Given the description of an element on the screen output the (x, y) to click on. 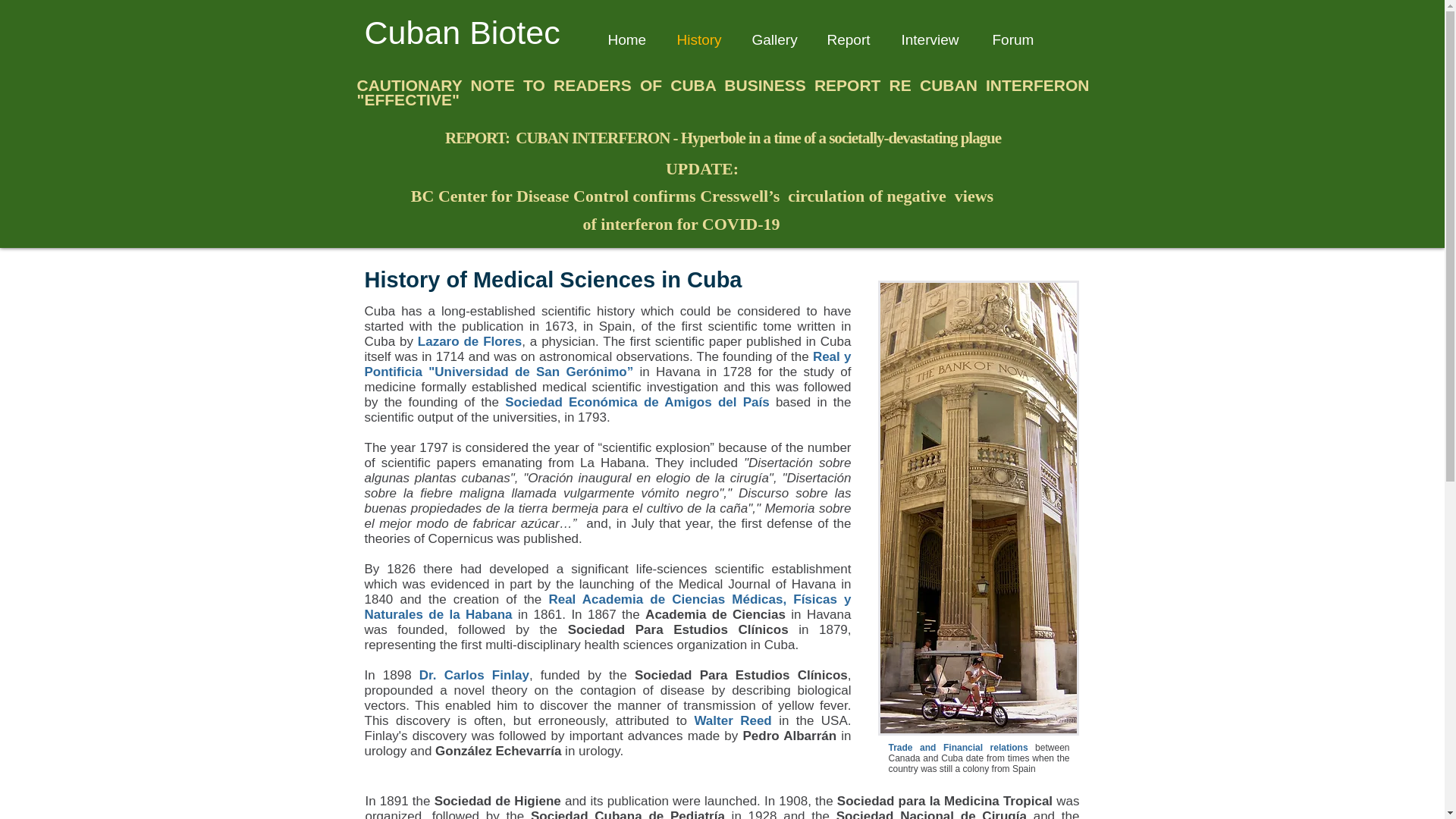
Home (626, 39)
Cuban Biotec (461, 32)
Trade and Financial relations (957, 747)
Gallery (772, 39)
Report (847, 39)
Interview (930, 39)
Forum (1012, 39)
Walter Reed (732, 720)
History (698, 39)
Lazaro de Flores (469, 341)
Dr. Carlos Finlay (474, 675)
